Given the description of an element on the screen output the (x, y) to click on. 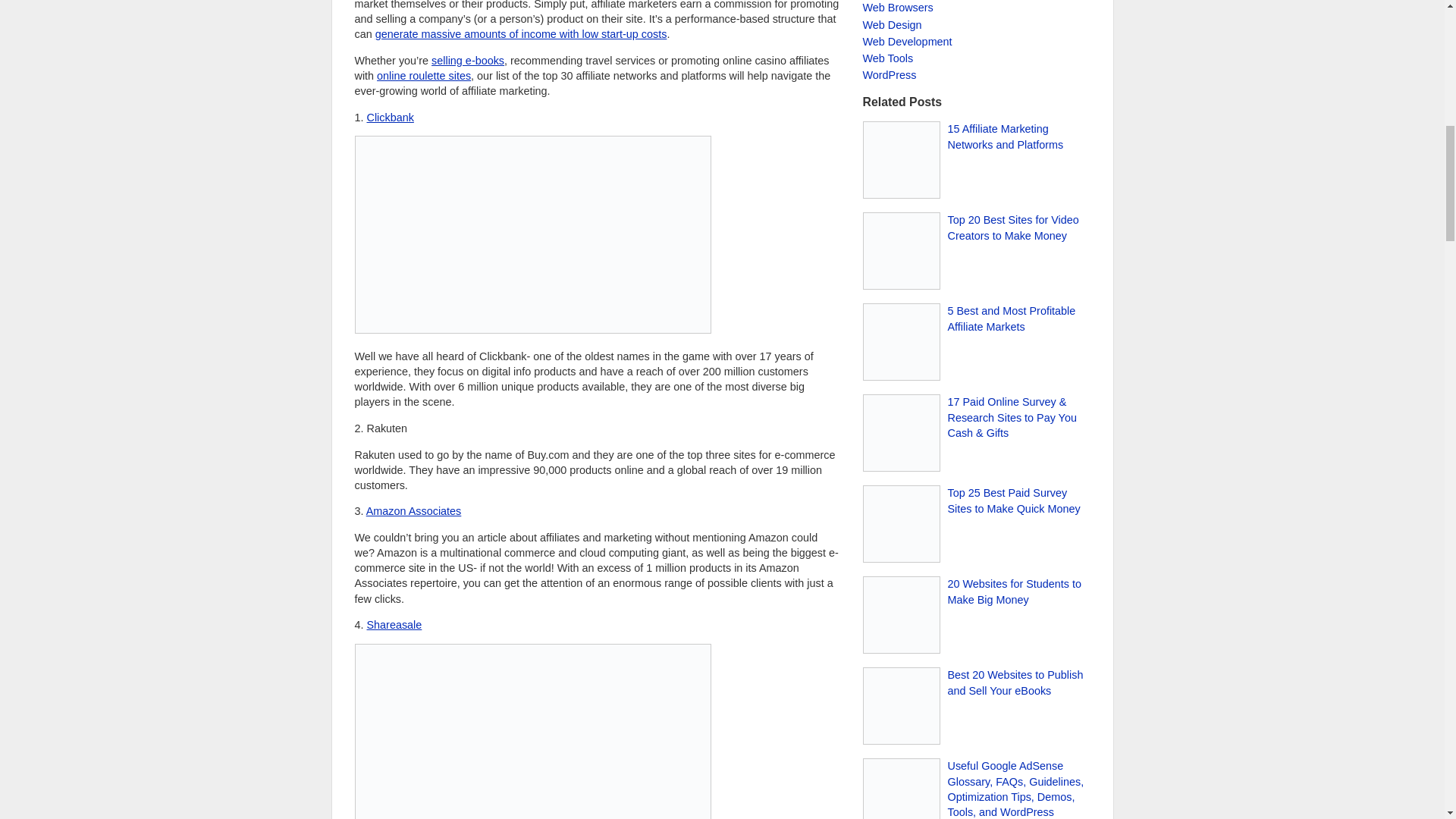
generate massive amounts of income with low start-up costs (520, 33)
Shareasale (394, 624)
Clickbank (389, 117)
online roulette sites (423, 75)
selling e-books (466, 60)
Amazon Associates (413, 510)
